Given the description of an element on the screen output the (x, y) to click on. 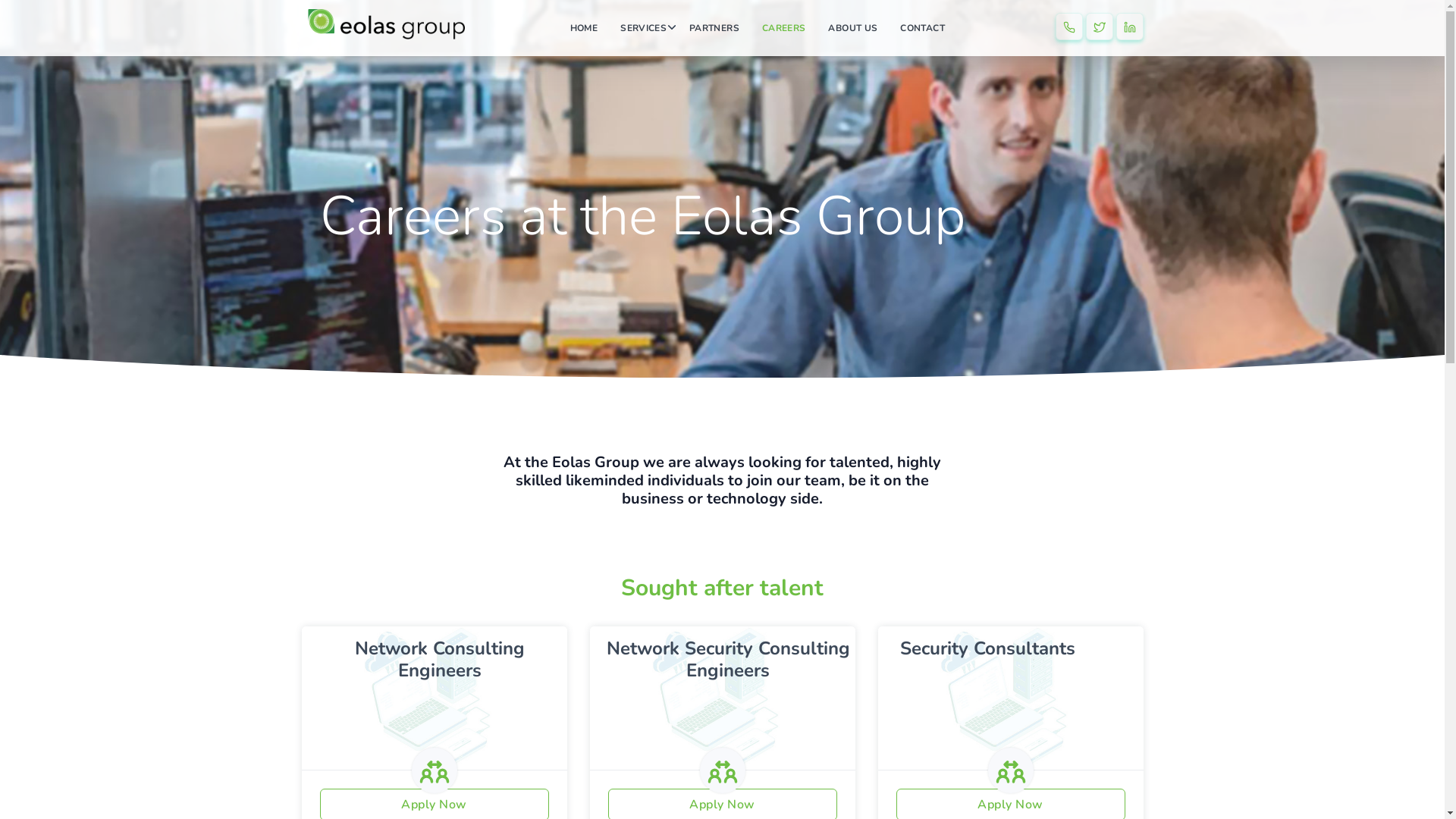
ABOUT US Element type: text (852, 28)
PARTNERS Element type: text (713, 28)
  Security Consultants   Element type: text (986, 648)
HOME Element type: text (583, 28)
Network Consulting Engineers Element type: text (439, 659)
SERVICES Element type: text (643, 28)
CONTACT Element type: text (922, 28)
Network Security Consulting Engineers Element type: text (728, 659)
CAREERS Element type: text (783, 28)
